Given the description of an element on the screen output the (x, y) to click on. 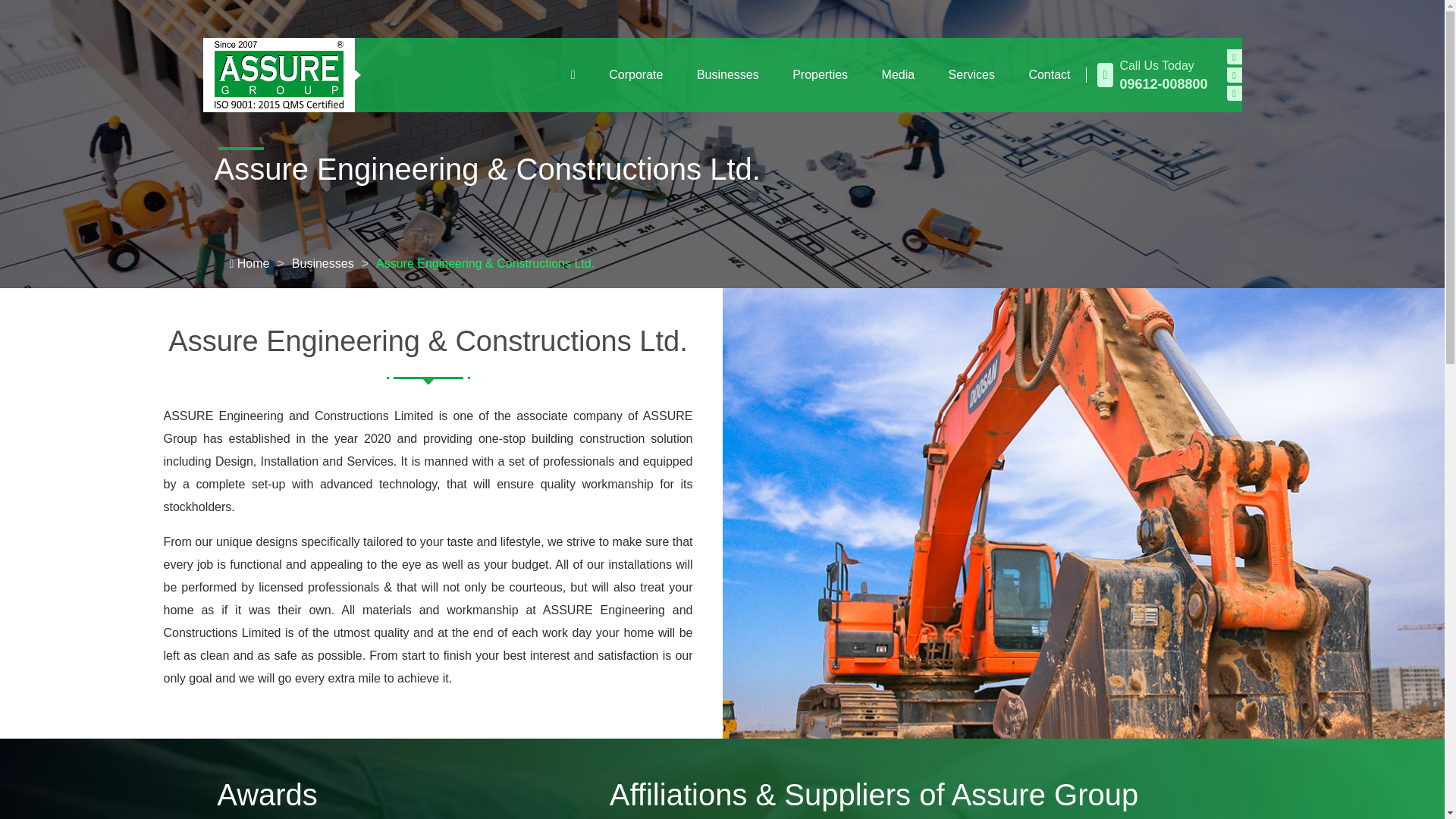
Corporate (636, 75)
Visit our youtube page (1234, 74)
Media (898, 75)
Properties (820, 75)
Businesses (727, 75)
Visit our facebook page (1234, 56)
Visit our linkedin page (1234, 92)
